Given the description of an element on the screen output the (x, y) to click on. 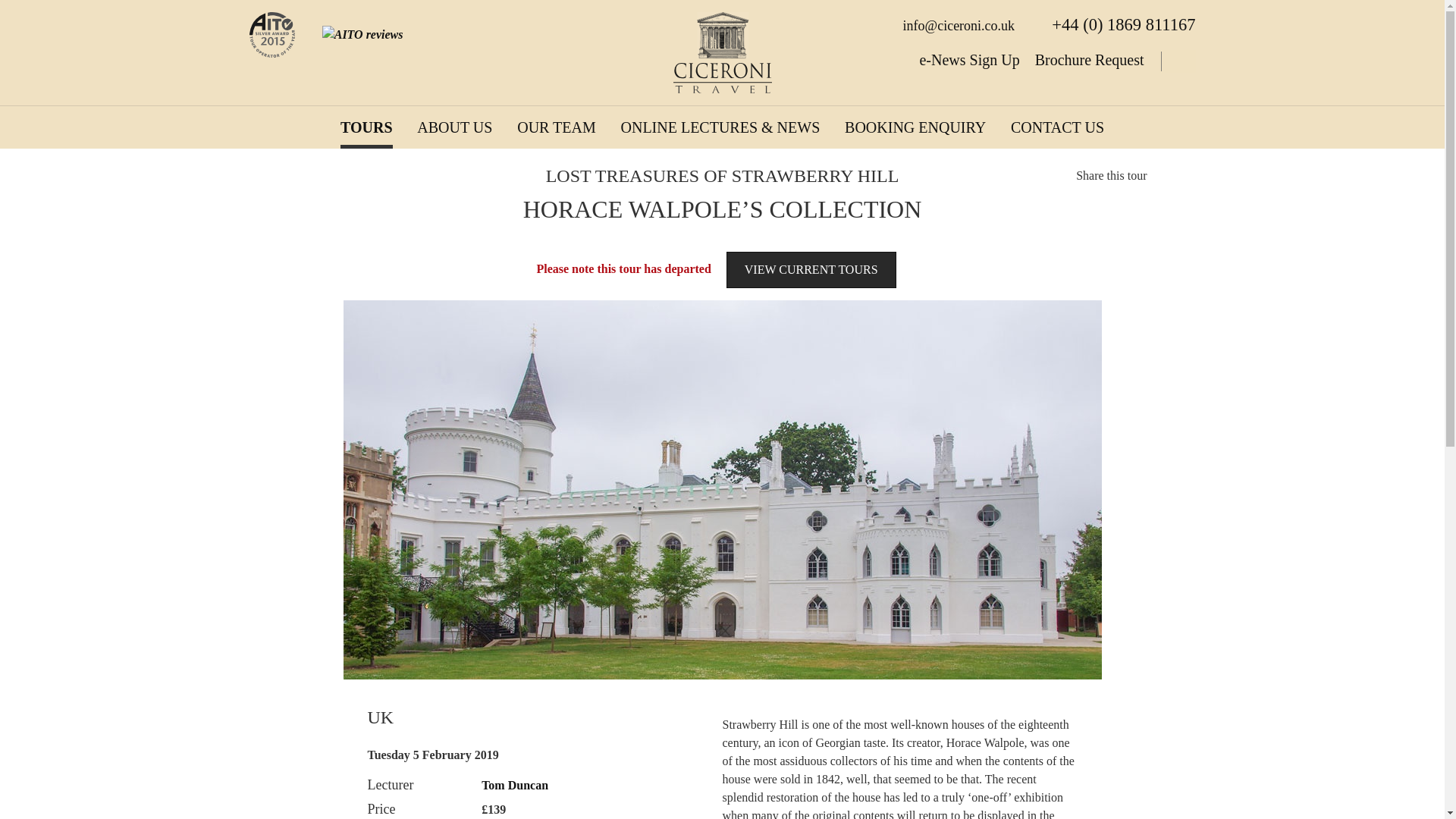
BOOKING ENQUIRY (914, 127)
Brochure Request (1089, 59)
e-News Sign Up (968, 59)
CONTACT US (1056, 127)
Ciceroni Travel (721, 53)
OUR TEAM (555, 127)
Tom Duncan (514, 784)
ABOUT US (454, 127)
Search (1176, 61)
VIEW CURRENT TOURS (811, 269)
